Given the description of an element on the screen output the (x, y) to click on. 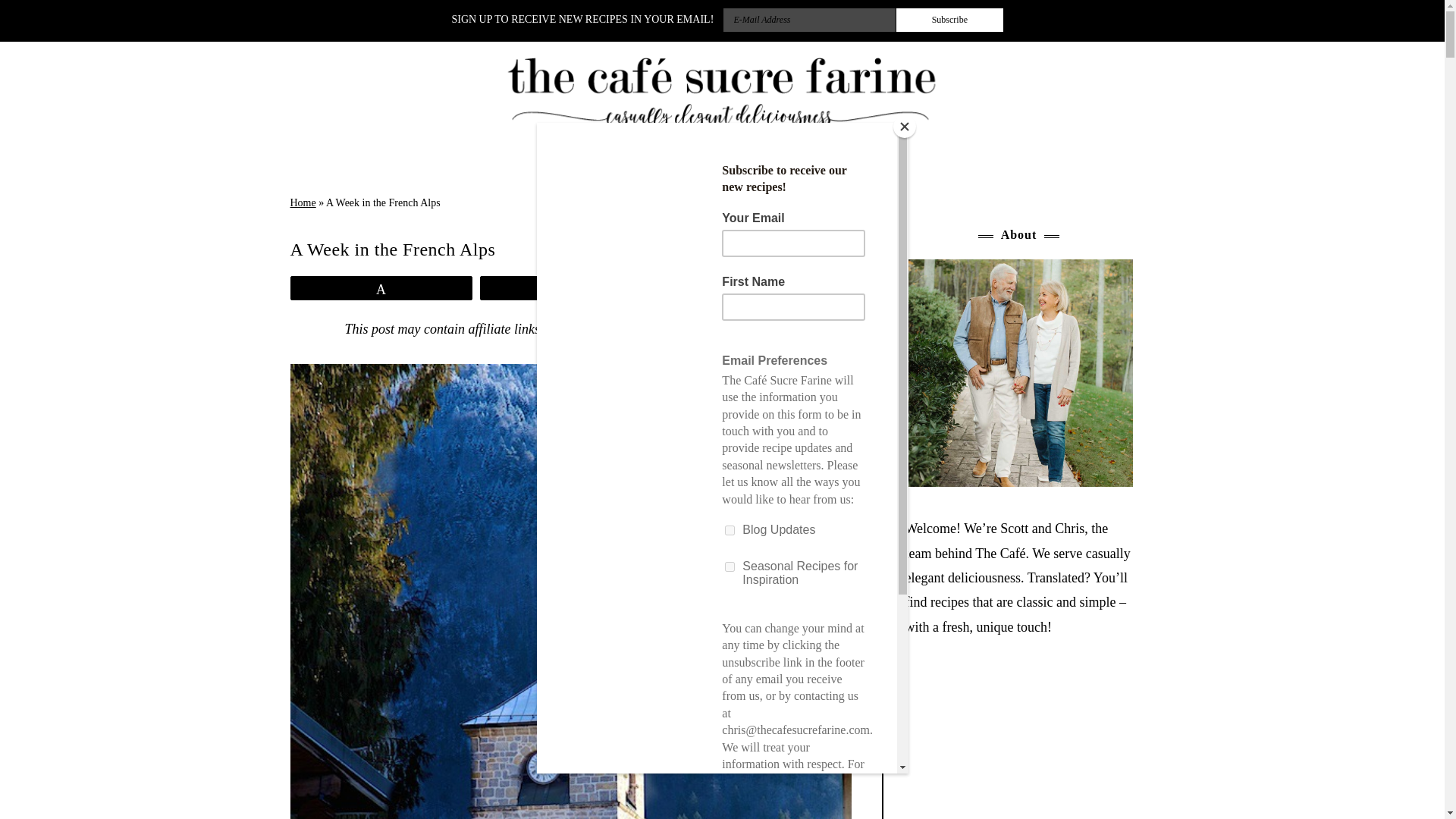
Subscribe (950, 19)
Home (564, 168)
Subscribe (950, 19)
privacy policy (754, 328)
Search (32, 15)
Home (302, 202)
About (638, 168)
Recipes (821, 168)
Contact Us (727, 168)
